Given the description of an element on the screen output the (x, y) to click on. 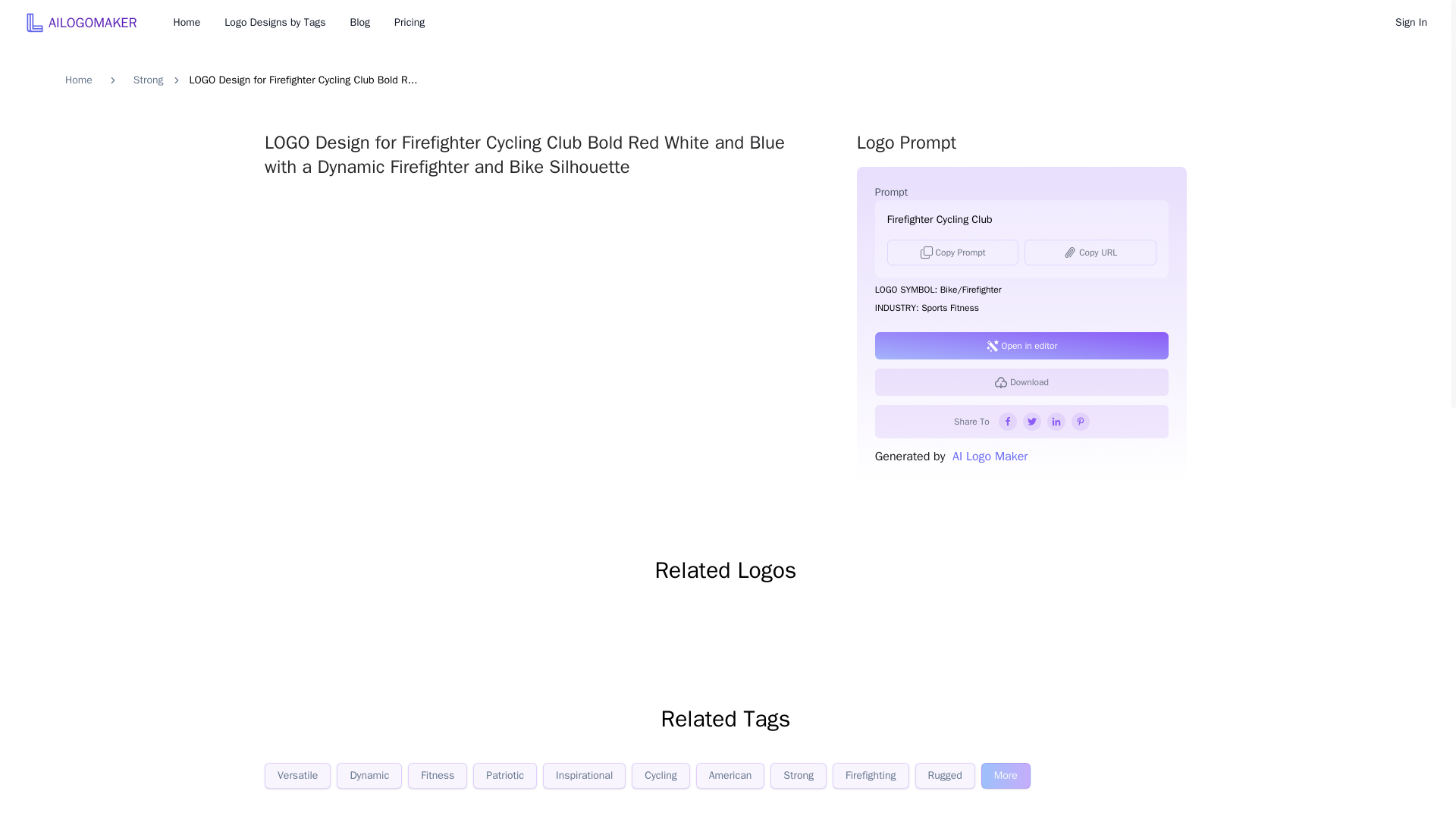
Versatile (297, 775)
Rugged (945, 775)
Pricing (409, 22)
AILOGOMAKER (80, 22)
Strong (148, 79)
Cycling (660, 775)
Fitness (437, 775)
Strong (798, 775)
Home (79, 79)
  AI Logo Maker (985, 456)
Home (186, 22)
Patriotic (505, 775)
Sign In (1410, 22)
Copy URL (1090, 252)
American (729, 775)
